Given the description of an element on the screen output the (x, y) to click on. 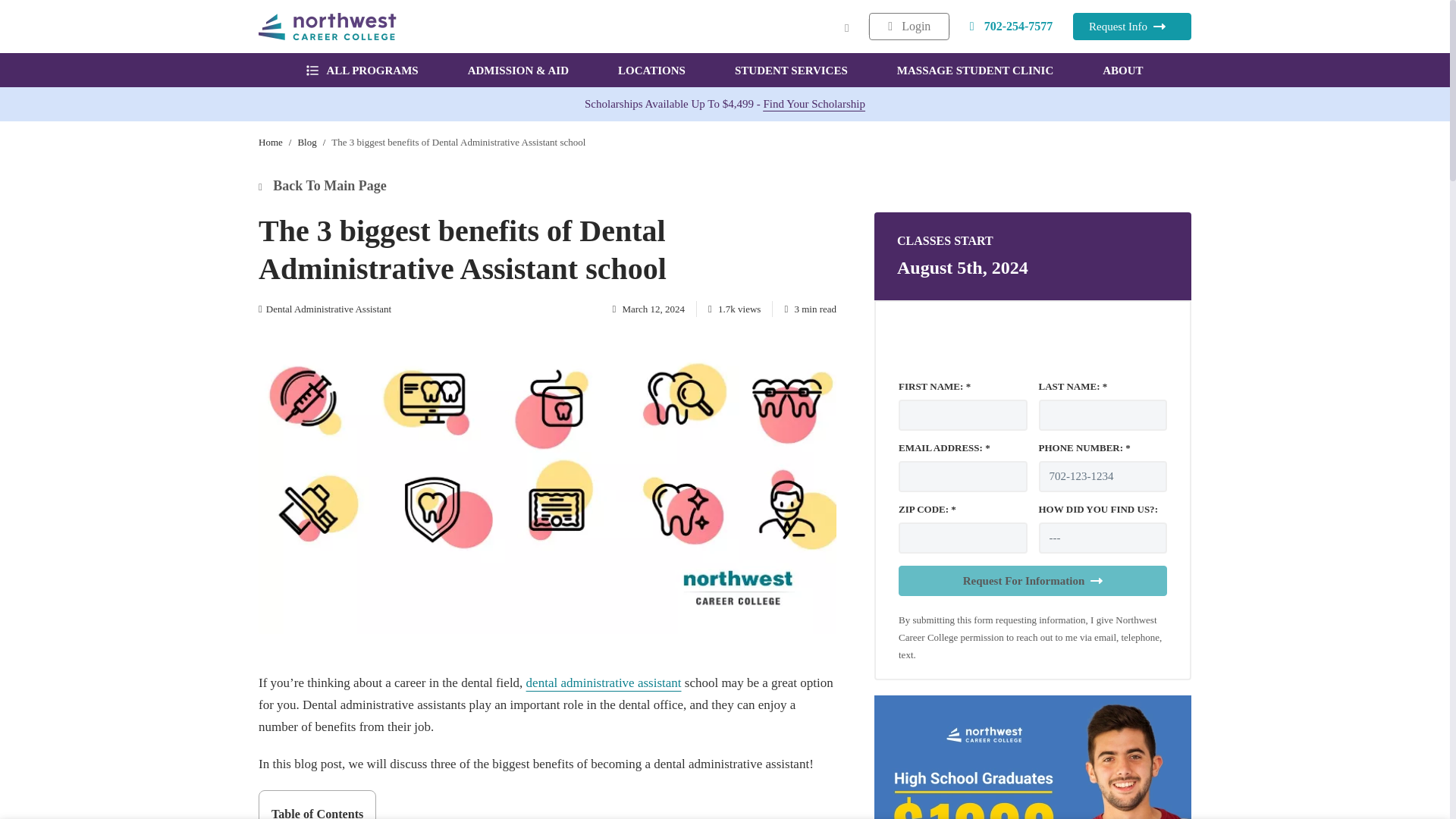
Login (909, 26)
ALL PROGRAMS (362, 69)
Blog (306, 142)
Request Info (1132, 26)
702-254-7577 (1011, 26)
